Given the description of an element on the screen output the (x, y) to click on. 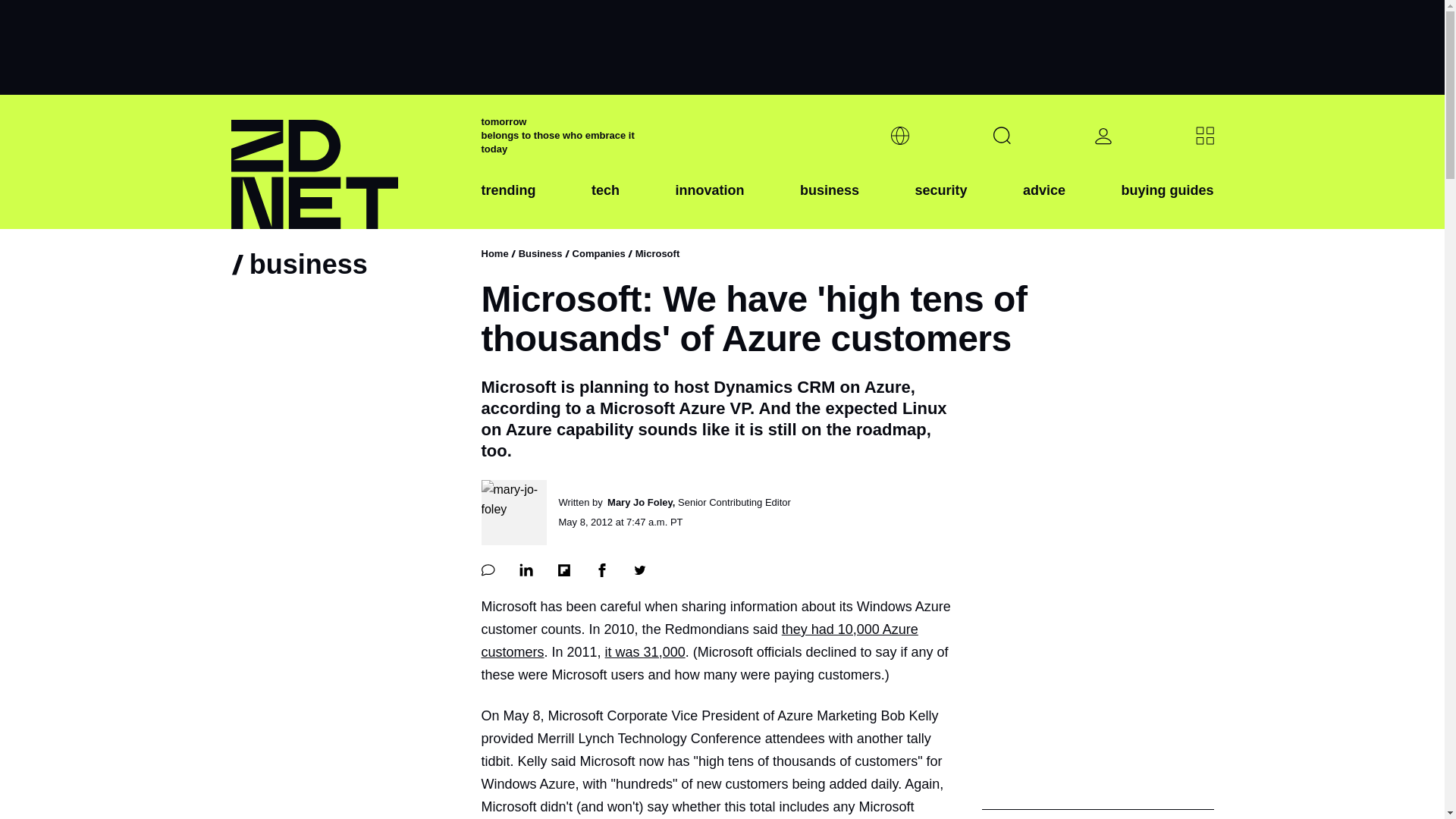
ZDNET (346, 162)
tech (605, 202)
trending (507, 202)
